Given the description of an element on the screen output the (x, y) to click on. 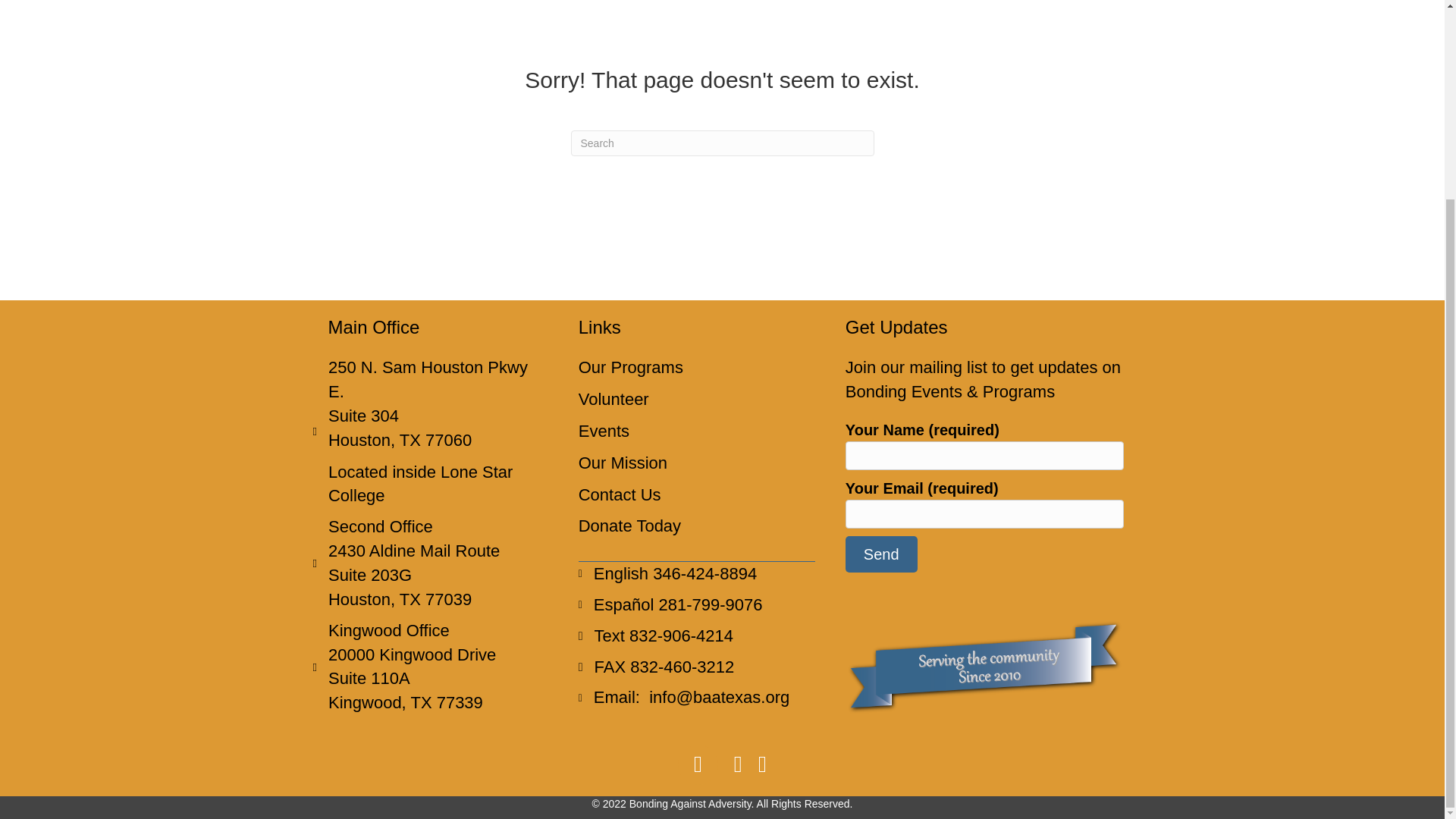
ribbon3 (984, 667)
Type and press Enter to search. (721, 143)
Send (881, 554)
